Given the description of an element on the screen output the (x, y) to click on. 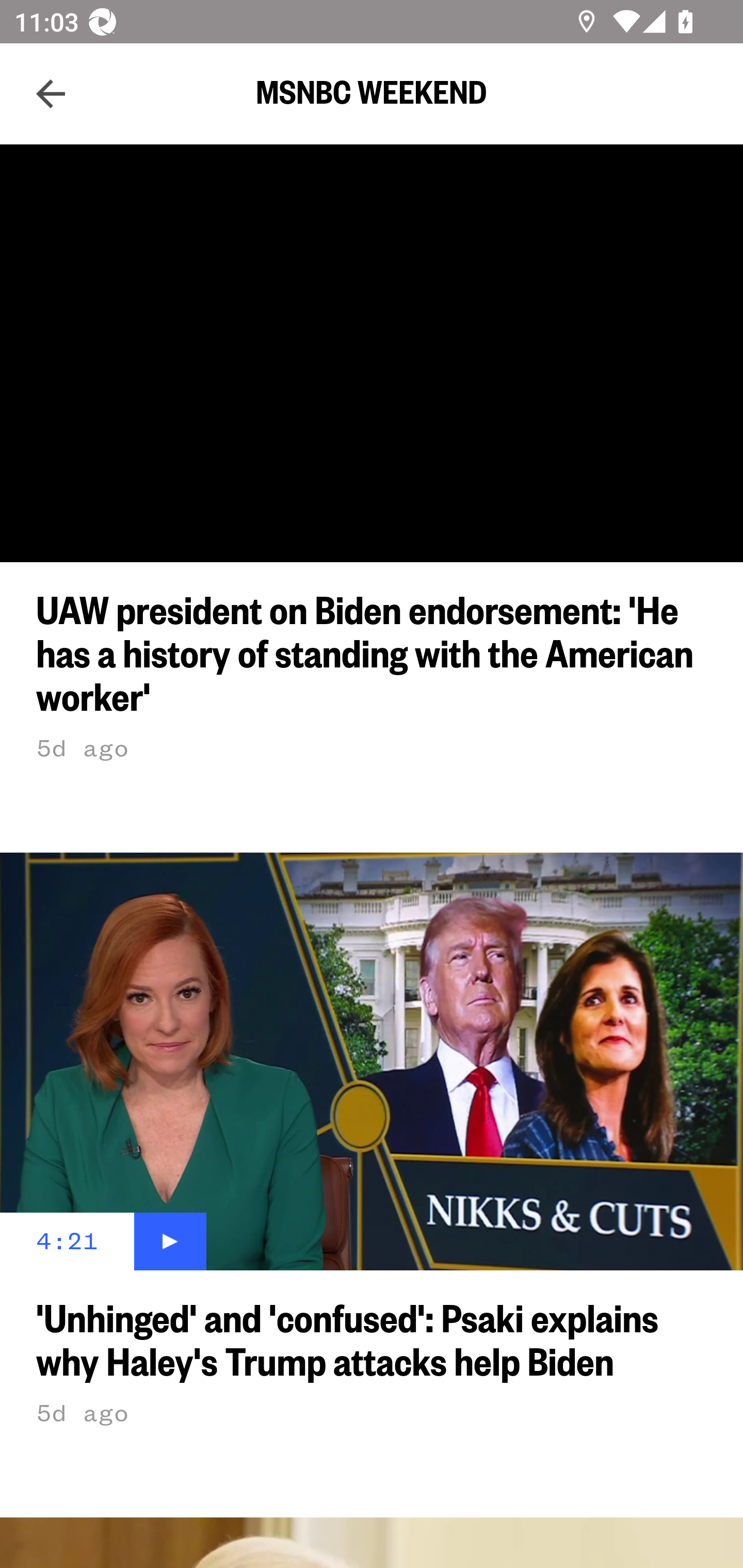
Navigate up (50, 93)
